Given the description of an element on the screen output the (x, y) to click on. 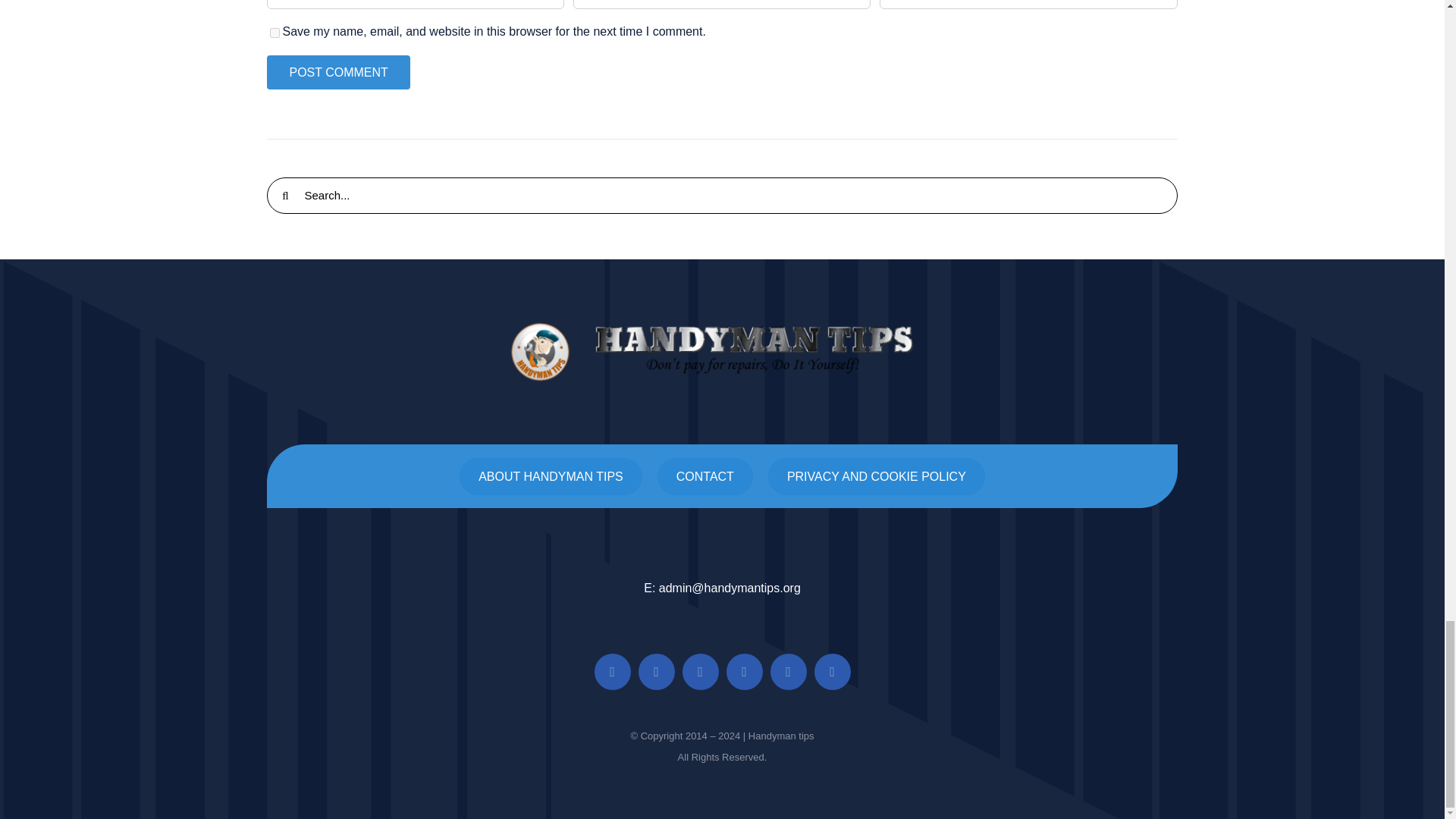
yes (274, 32)
Handyman tips header new (721, 352)
ABOUT HANDYMAN TIPS (551, 476)
Post Comment (337, 72)
PRIVACY AND COOKIE POLICY (876, 476)
Post Comment (337, 72)
CONTACT (705, 476)
